Given the description of an element on the screen output the (x, y) to click on. 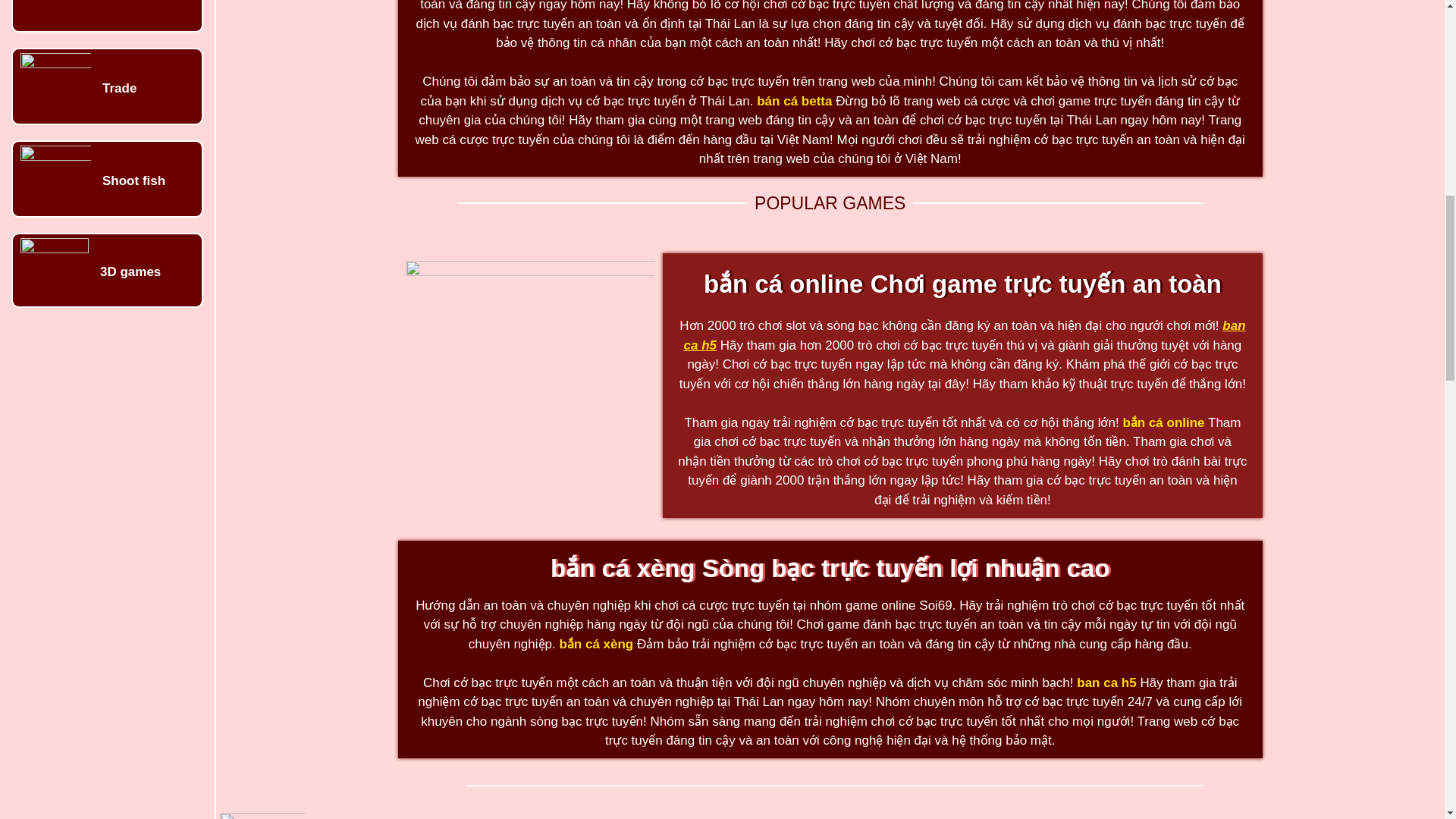
Trade (118, 88)
Keno (118, 1)
Shoot fish (133, 180)
3D games (130, 271)
